Given the description of an element on the screen output the (x, y) to click on. 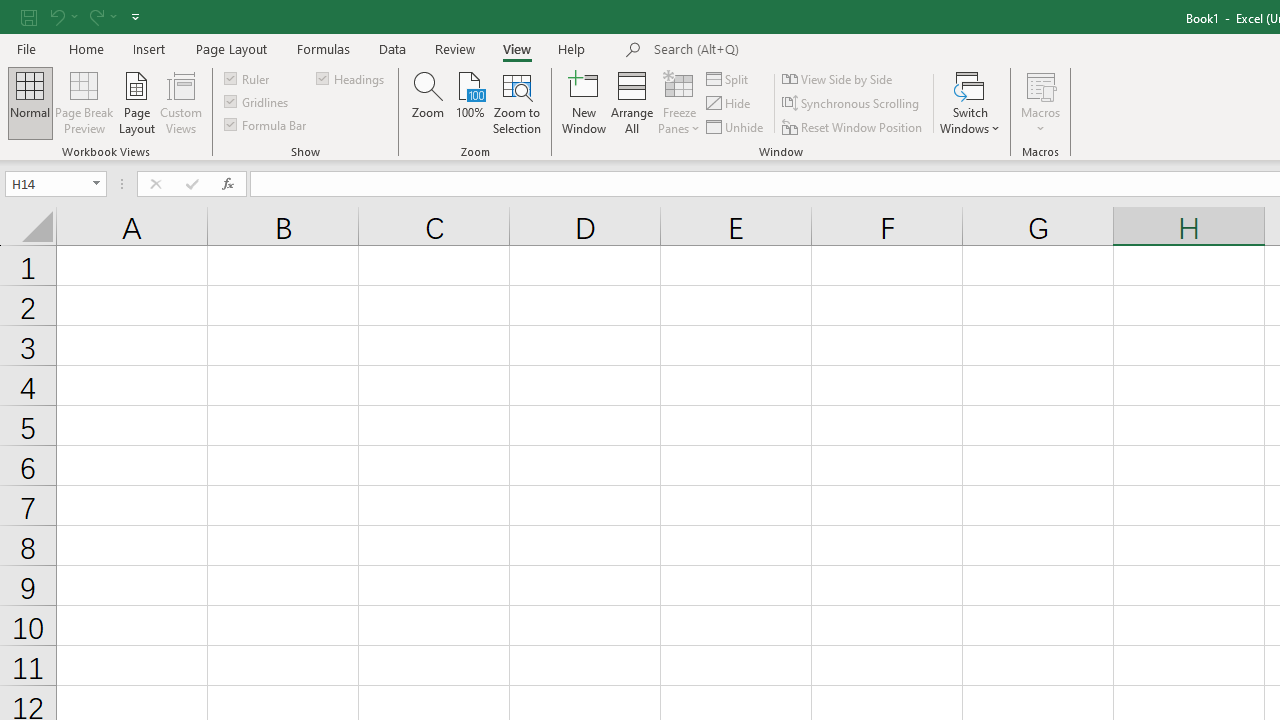
Arrange All (632, 102)
